Given the description of an element on the screen output the (x, y) to click on. 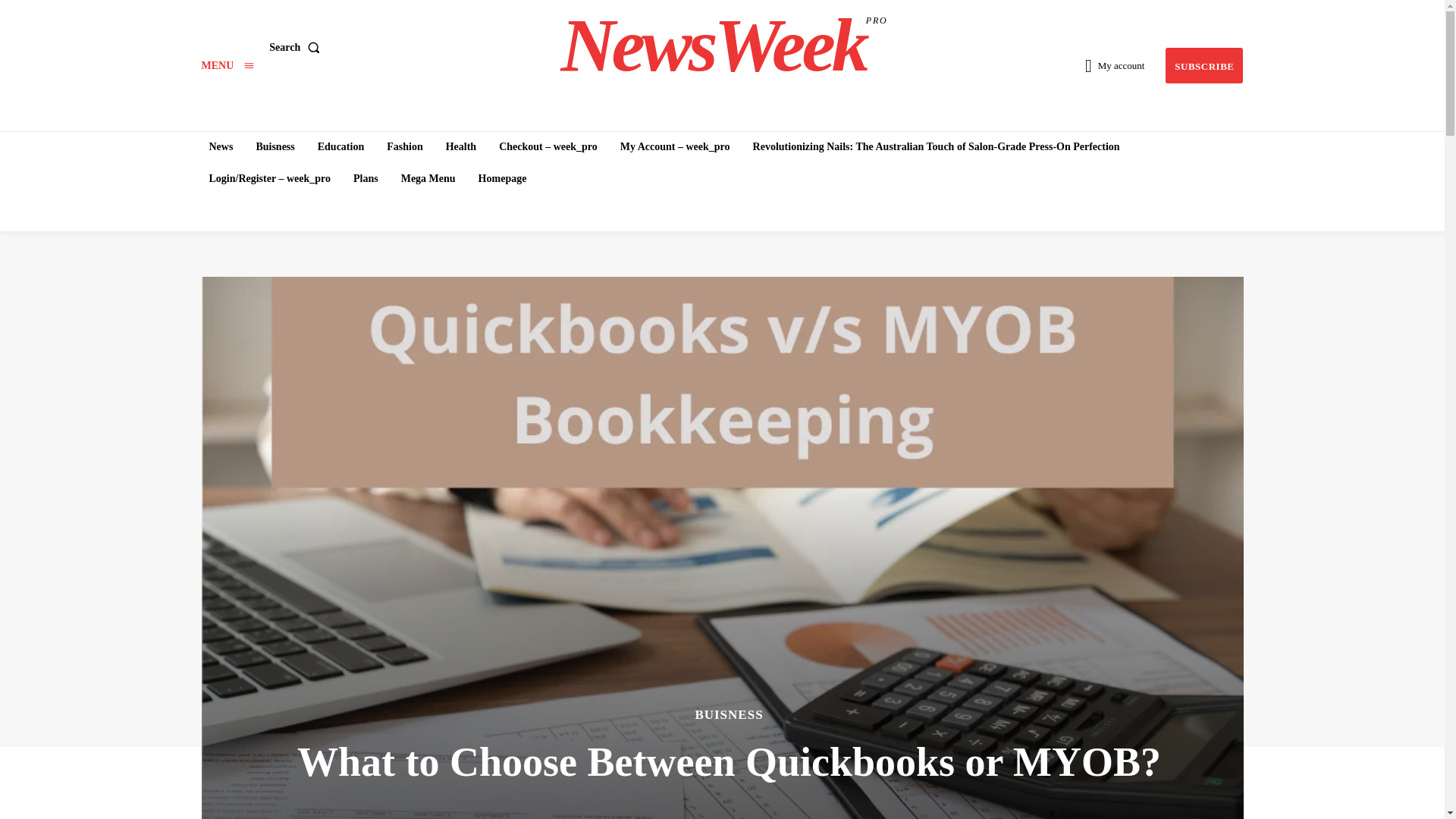
Fashion (403, 146)
Plans (365, 178)
MENU (228, 65)
Education (340, 146)
SUBSCRIBE (1204, 65)
Search (297, 47)
News (221, 146)
Buisness (274, 146)
Health (724, 45)
